Given the description of an element on the screen output the (x, y) to click on. 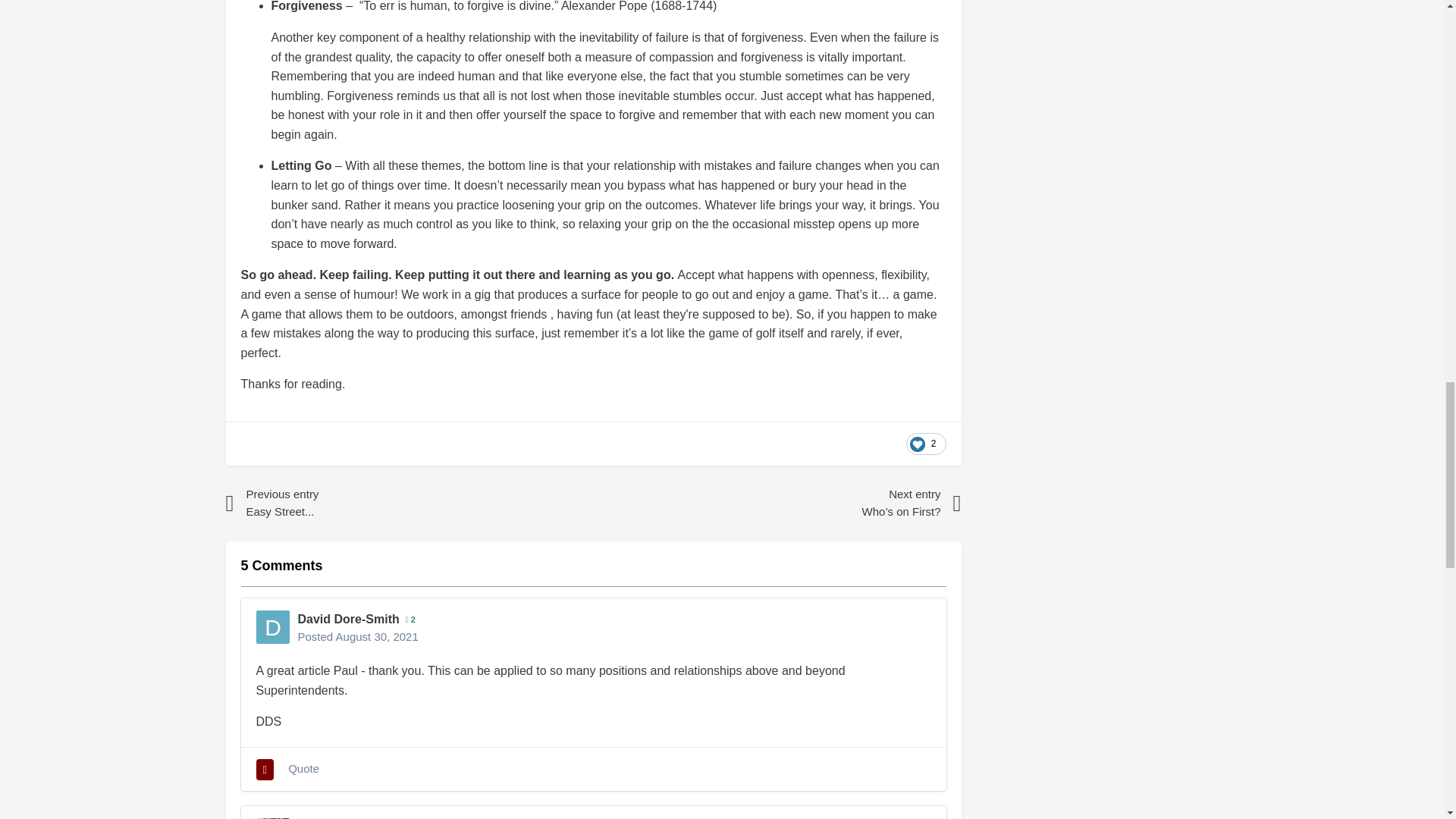
Next entry (827, 503)
Go to David Dore-Smith's profile (272, 626)
Previous entry (358, 503)
Like (924, 444)
Go to David Dore-Smith's profile (347, 618)
